Given the description of an element on the screen output the (x, y) to click on. 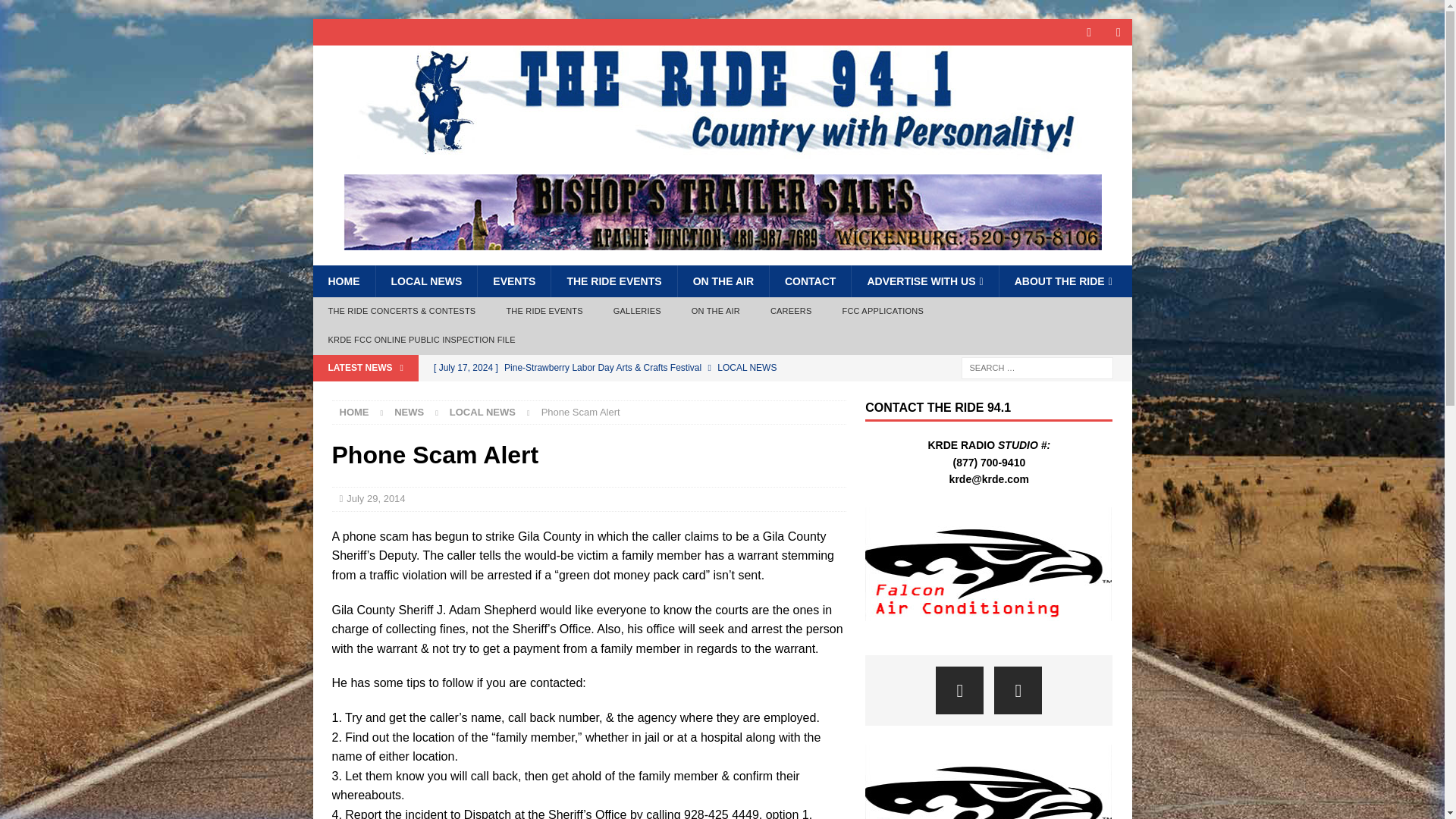
ADVERTISE WITH US (923, 281)
Black Fire (634, 393)
ON THE AIR (722, 281)
THE RIDE EVENTS (613, 281)
EVENTS (513, 281)
CONTACT (809, 281)
HOME (343, 281)
KRDE The Ride 94.1 (722, 150)
LOCAL NEWS (425, 281)
Home (354, 411)
ABOUT THE RIDE (1062, 281)
Local News (482, 411)
